Given the description of an element on the screen output the (x, y) to click on. 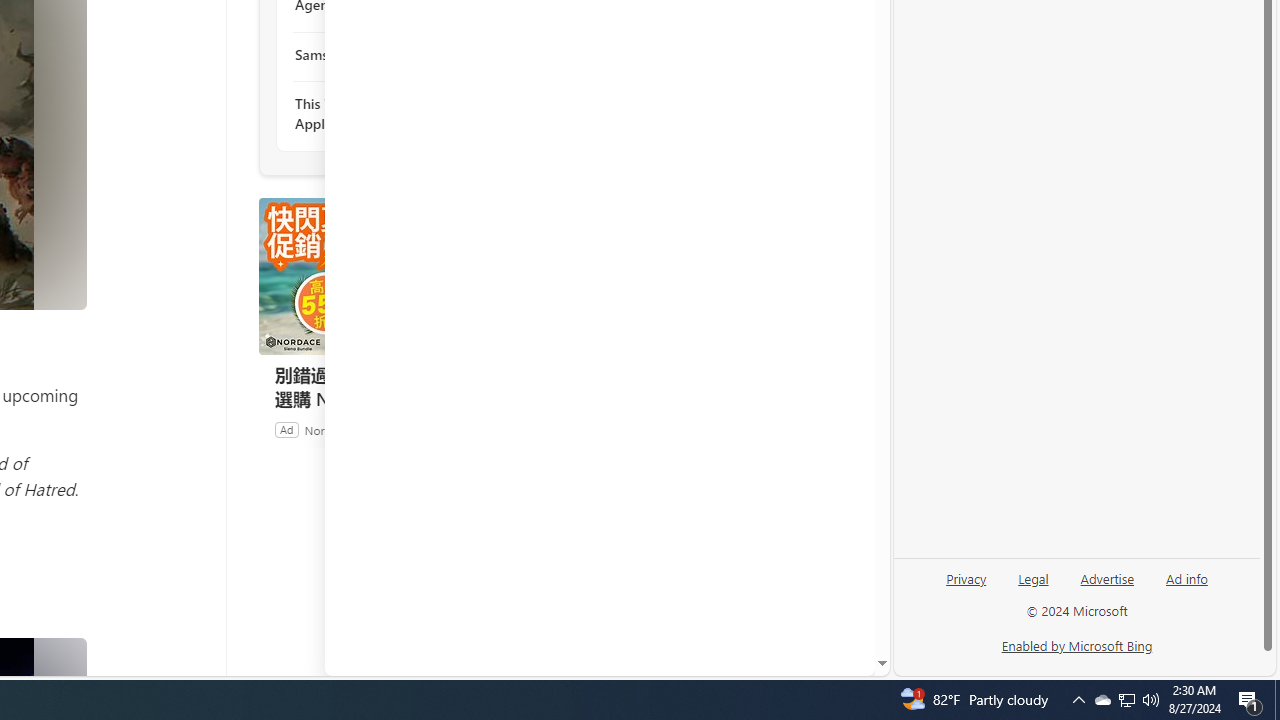
Samsung Galaxy Watch 7 Review (403, 53)
